Given the description of an element on the screen output the (x, y) to click on. 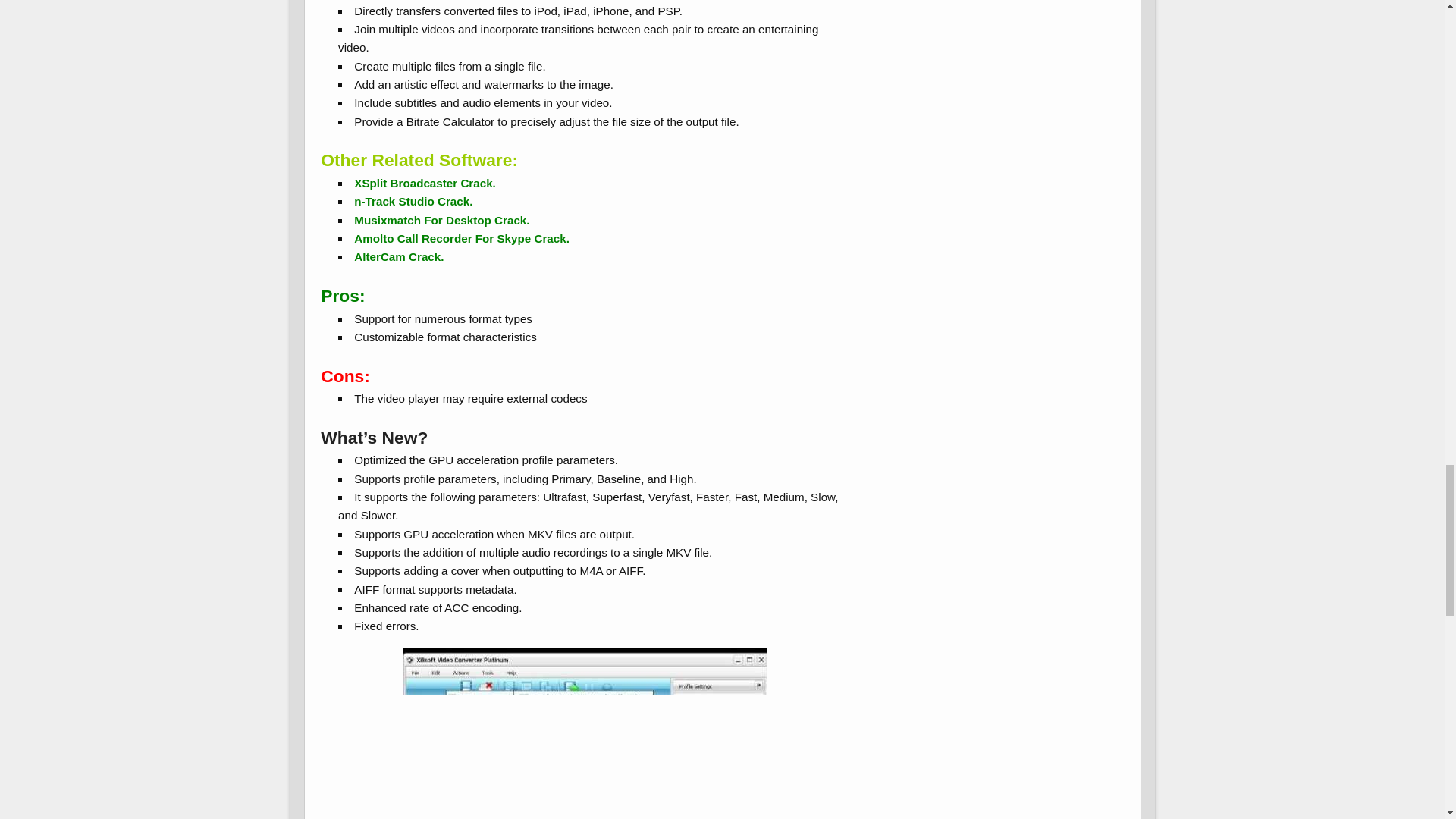
Musixmatch For Desktop Crack. (441, 219)
Amolto Call Recorder For Skype Crack. (461, 237)
AlterCam Crack. (398, 256)
XSplit Broadcaster Crack. (424, 182)
n-Track Studio Crack. (412, 201)
